Given the description of an element on the screen output the (x, y) to click on. 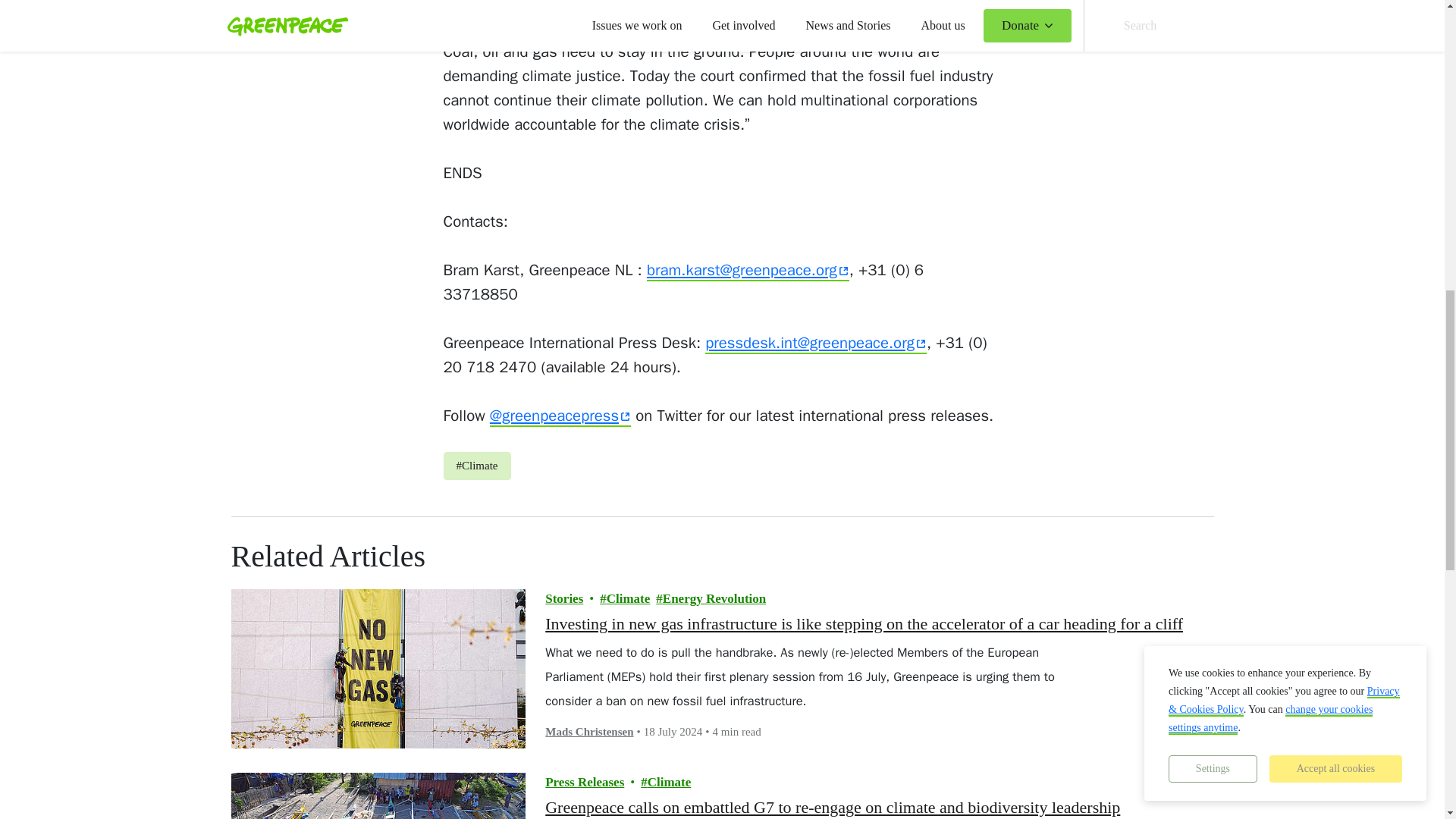
This link will lead you to  (815, 342)
This link will lead you to twitter.com (559, 415)
This link will lead you to  (747, 270)
